Given the description of an element on the screen output the (x, y) to click on. 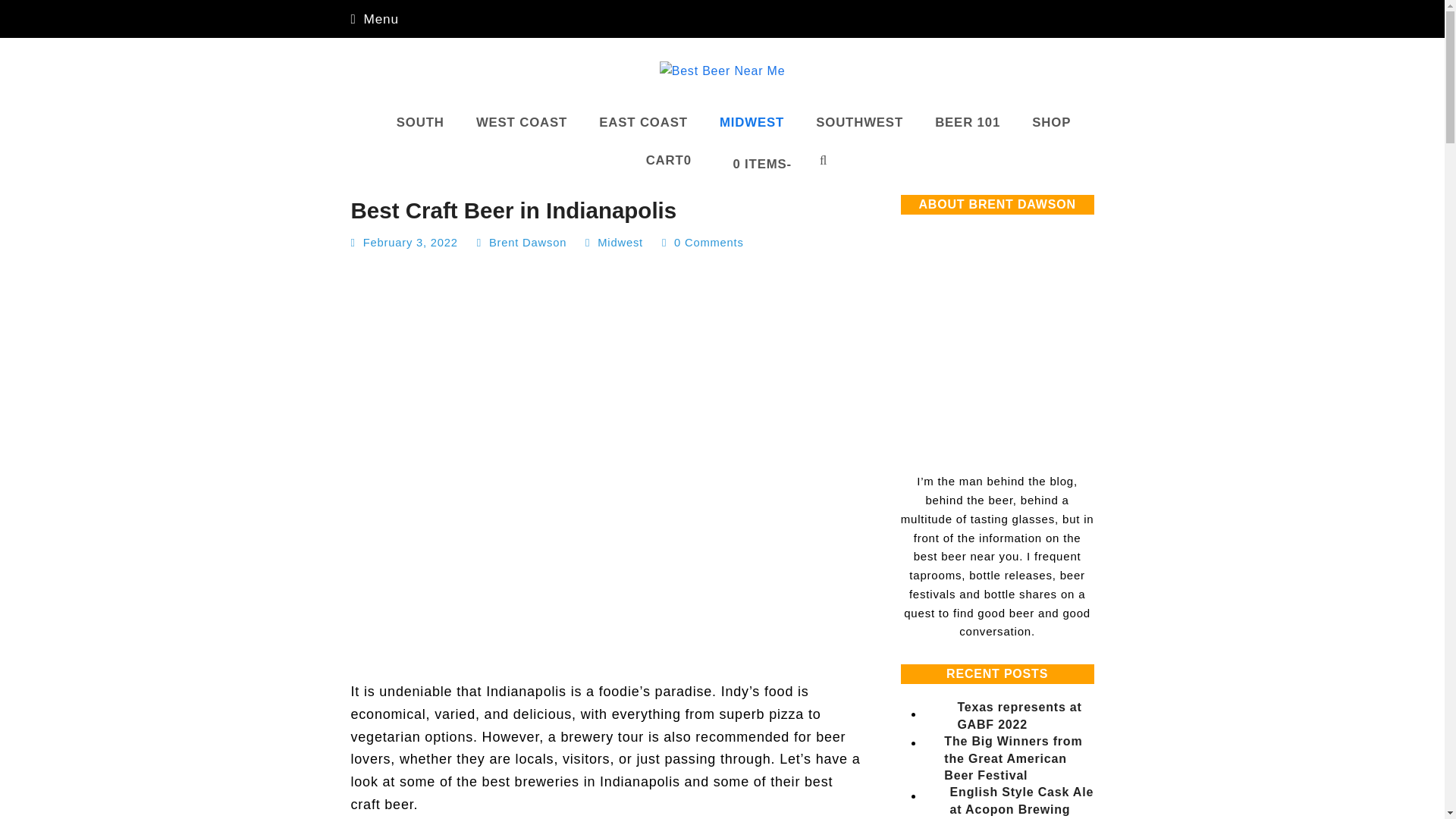
SOUTHWEST (859, 122)
BEER 101 (967, 122)
EAST COAST (754, 160)
Posts by Brent Dawson (643, 122)
Brent Dawson (527, 242)
CART0 (527, 242)
SHOP (665, 160)
SOUTH (1050, 122)
Midwest (419, 122)
0 Comments (619, 242)
Menu (709, 242)
MIDWEST (373, 18)
WEST COAST (751, 122)
0 Comments (520, 122)
